Given the description of an element on the screen output the (x, y) to click on. 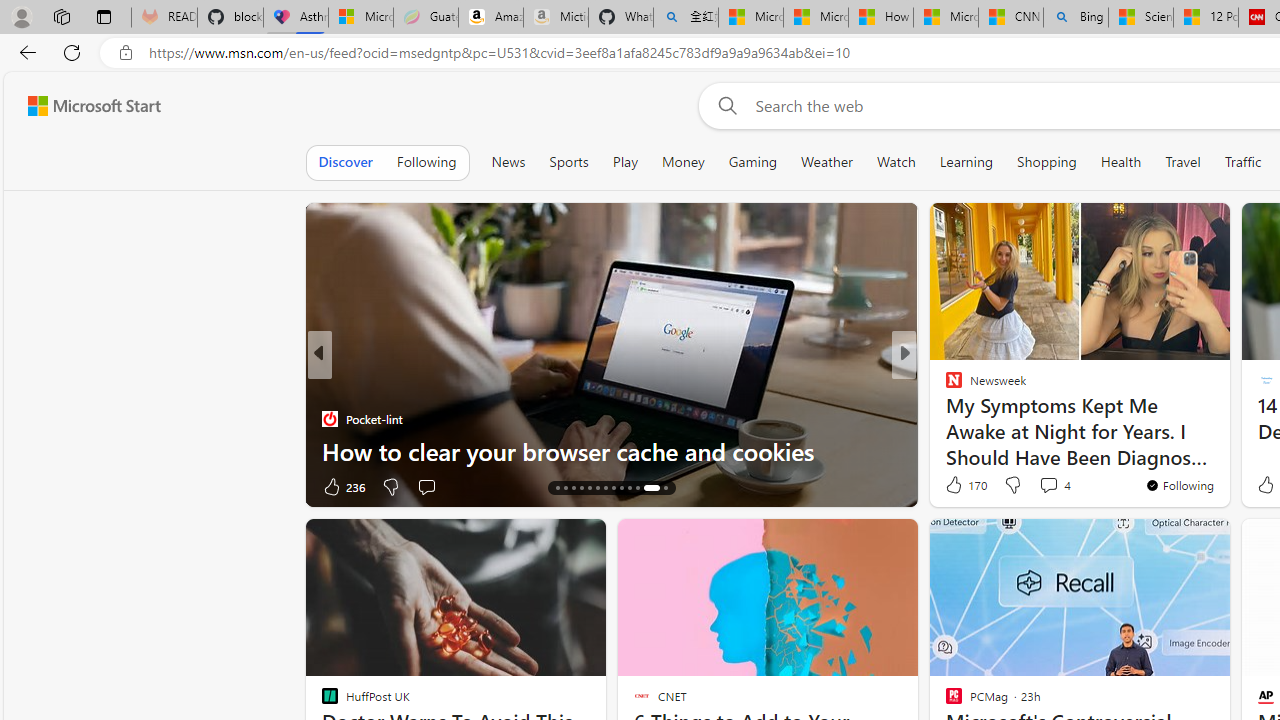
Play (625, 162)
Bing (1076, 17)
AutomationID: tab-22 (620, 487)
AutomationID: tab-24 (637, 487)
AutomationID: tab-16 (573, 487)
Shopping (1047, 161)
Shopping (1046, 162)
Watch (896, 162)
AutomationID: tab-18 (588, 487)
Health (1121, 162)
